Given the description of an element on the screen output the (x, y) to click on. 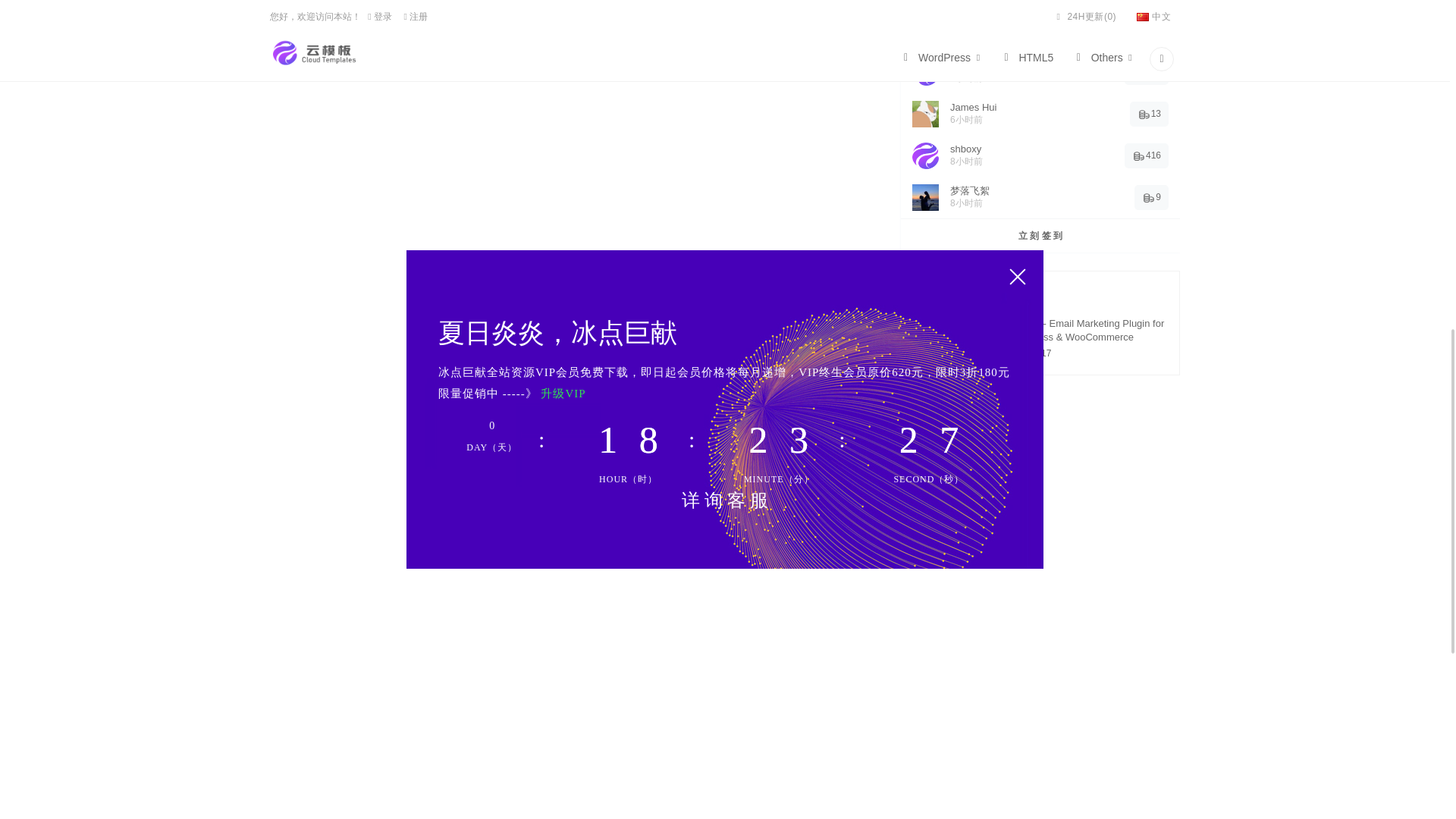
PetitQ (304, 8)
PetitQ (614, 8)
